Given the description of an element on the screen output the (x, y) to click on. 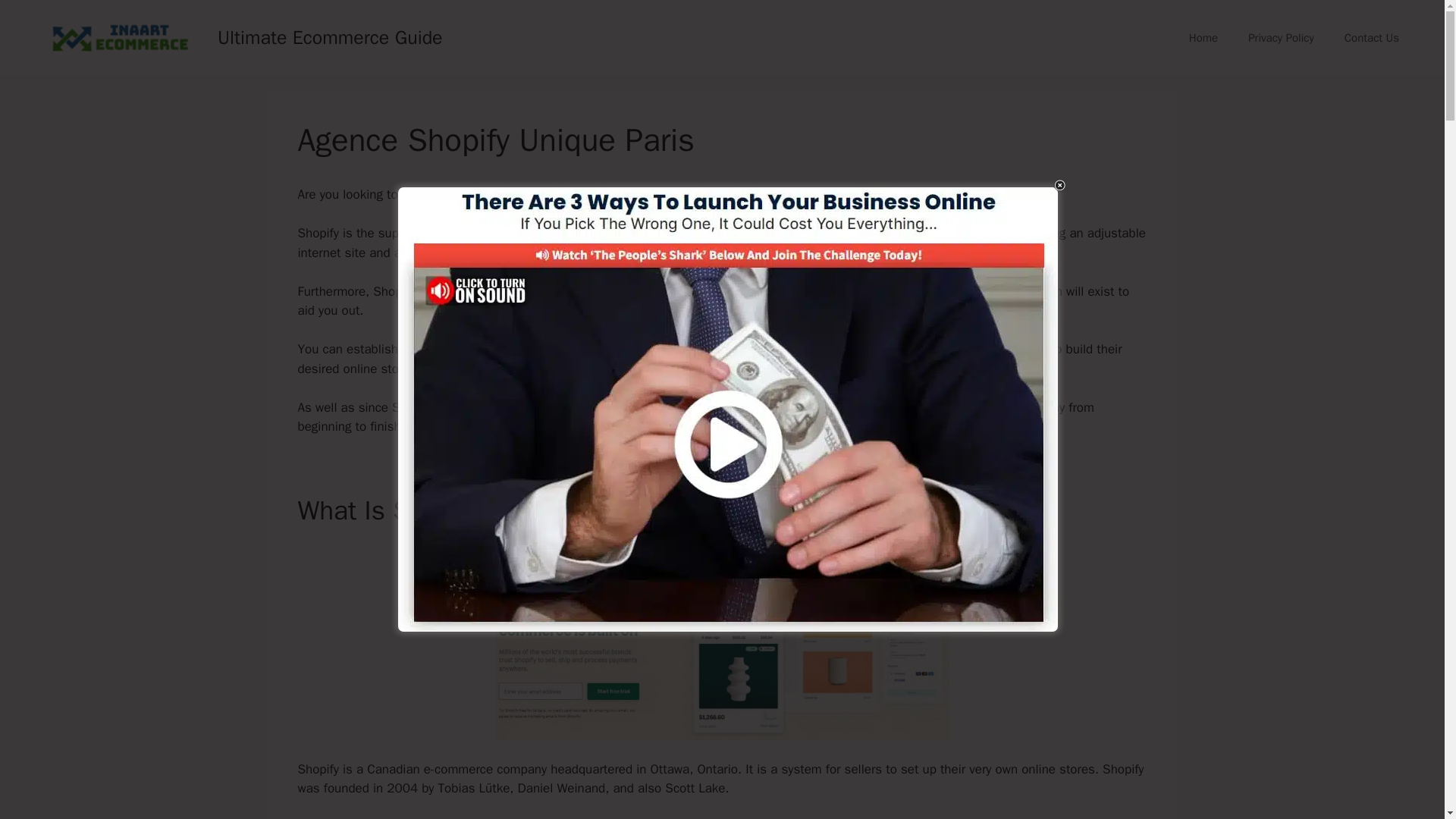
Contact Us (1371, 37)
Ultimate Ecommerce Guide (329, 37)
eCommerce shop (501, 194)
Privacy Policy (1281, 37)
Home (1203, 37)
Close (1059, 184)
